Given the description of an element on the screen output the (x, y) to click on. 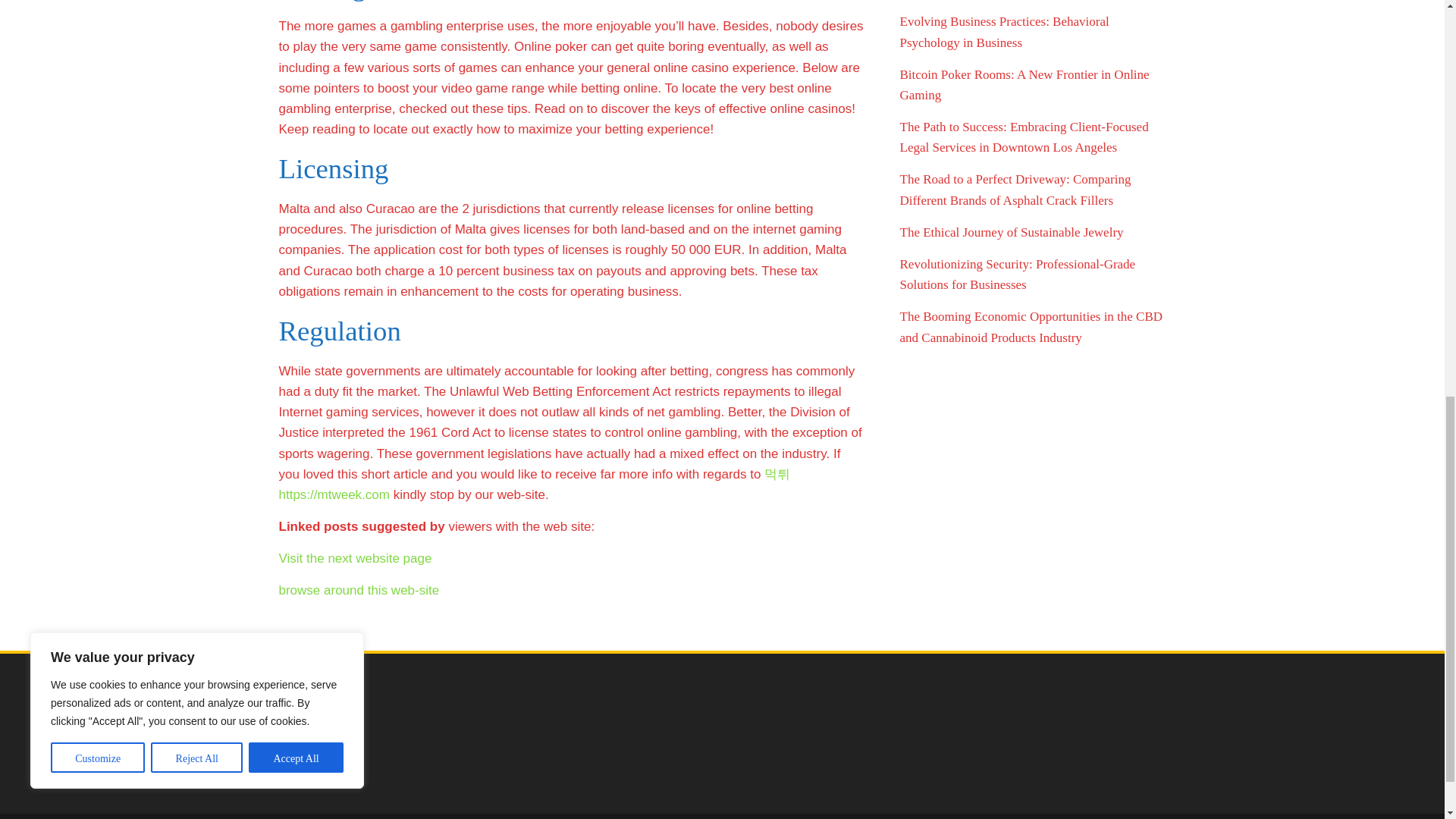
browse around this web-site (359, 590)
Bitcoin Poker Rooms: A New Frontier in Online Gaming (1023, 84)
Visit the next website page (355, 558)
